Given the description of an element on the screen output the (x, y) to click on. 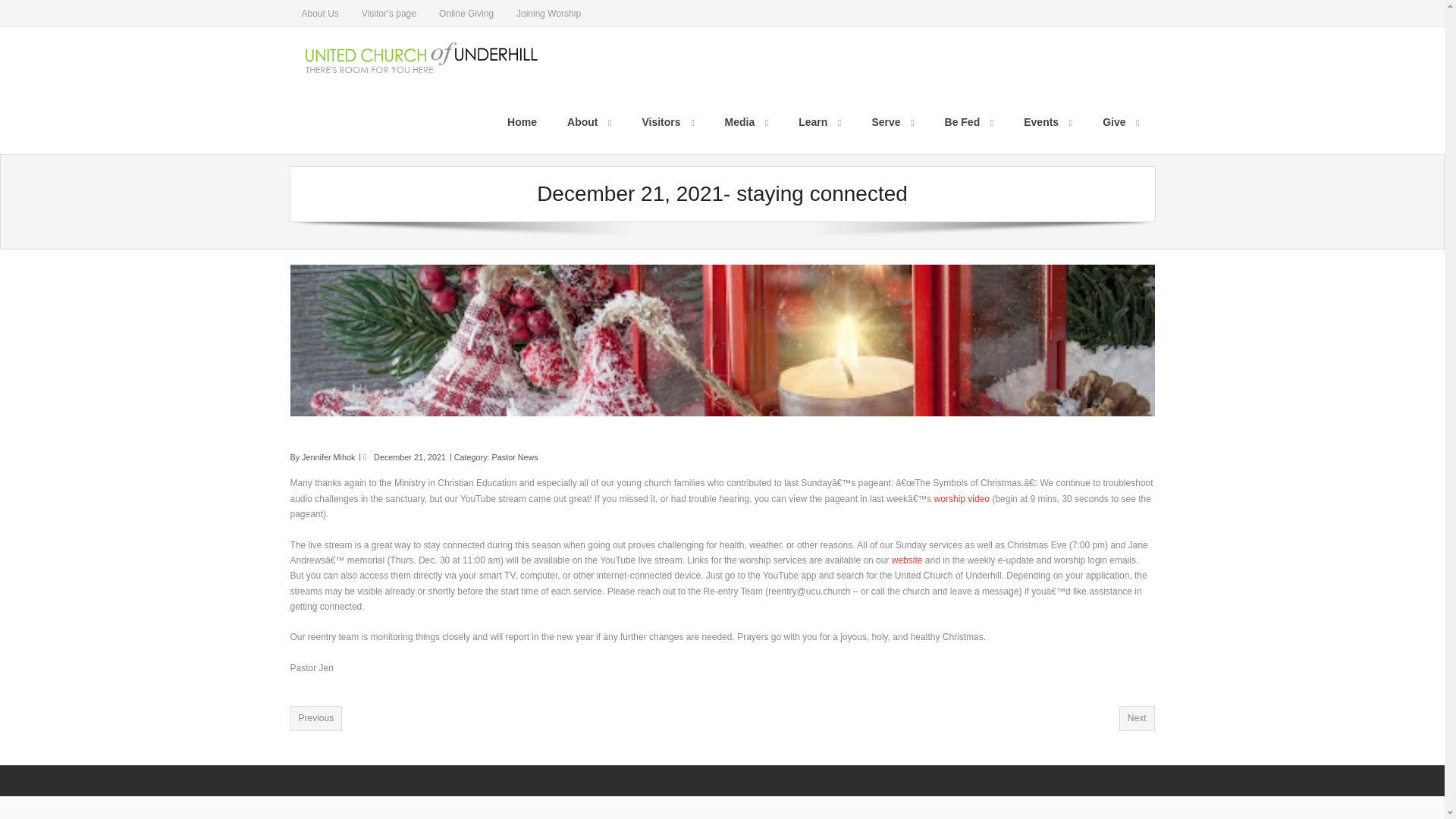
December 21, 2021- staying connected (409, 456)
About (588, 121)
Visitors (667, 121)
Media (747, 121)
About Us (319, 12)
Learn (819, 121)
View all posts by Jennifer Mihok (328, 456)
Home (521, 121)
Joining Worship (548, 12)
Online Giving (466, 12)
Serve (892, 121)
Be Fed (969, 121)
Events (1048, 121)
